Given the description of an element on the screen output the (x, y) to click on. 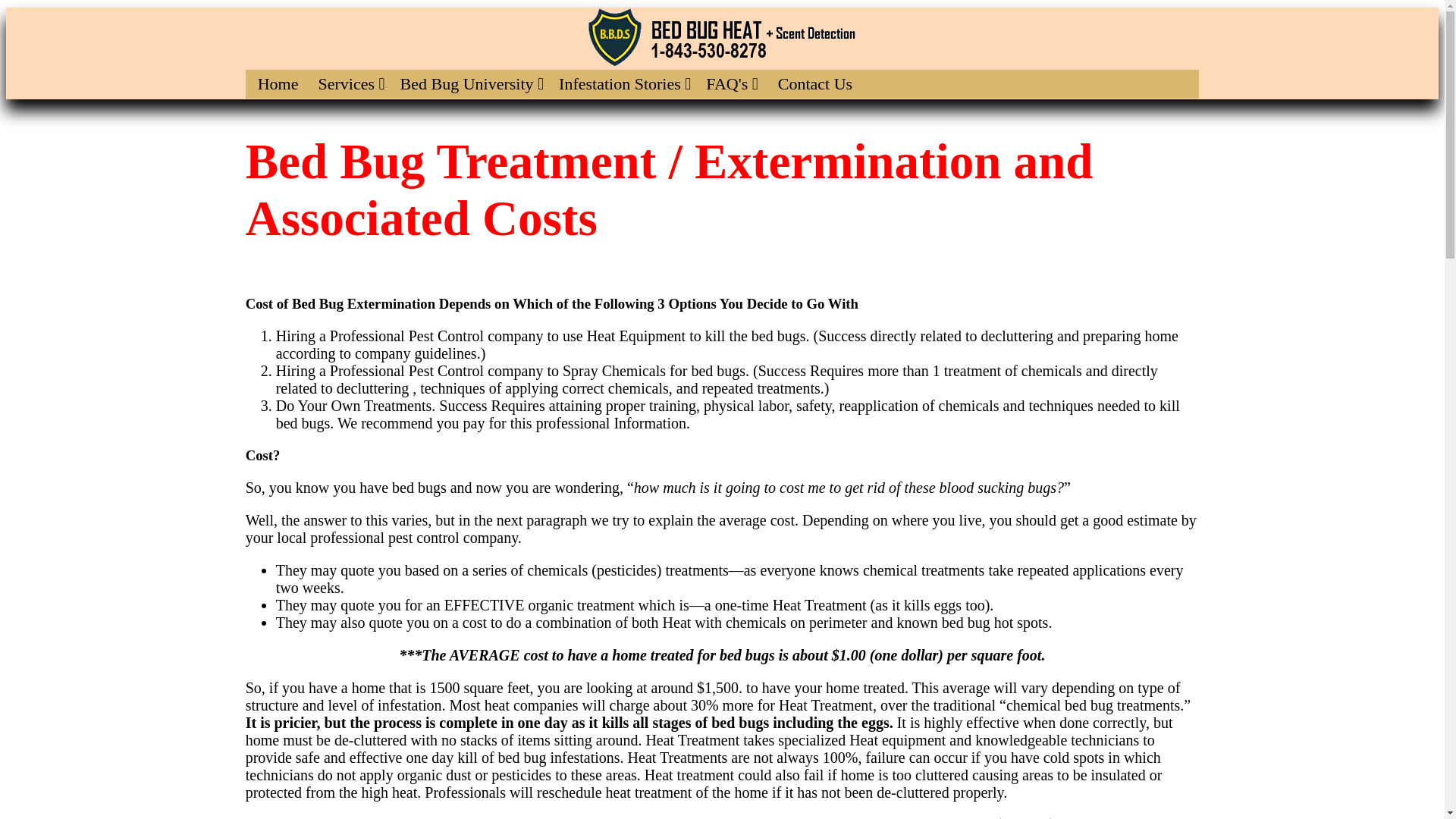
FAQ's (731, 83)
Infestation Stories (624, 83)
Home (278, 83)
Services (350, 83)
Contact Us (814, 83)
Bed Bug University (472, 83)
